Given the description of an element on the screen output the (x, y) to click on. 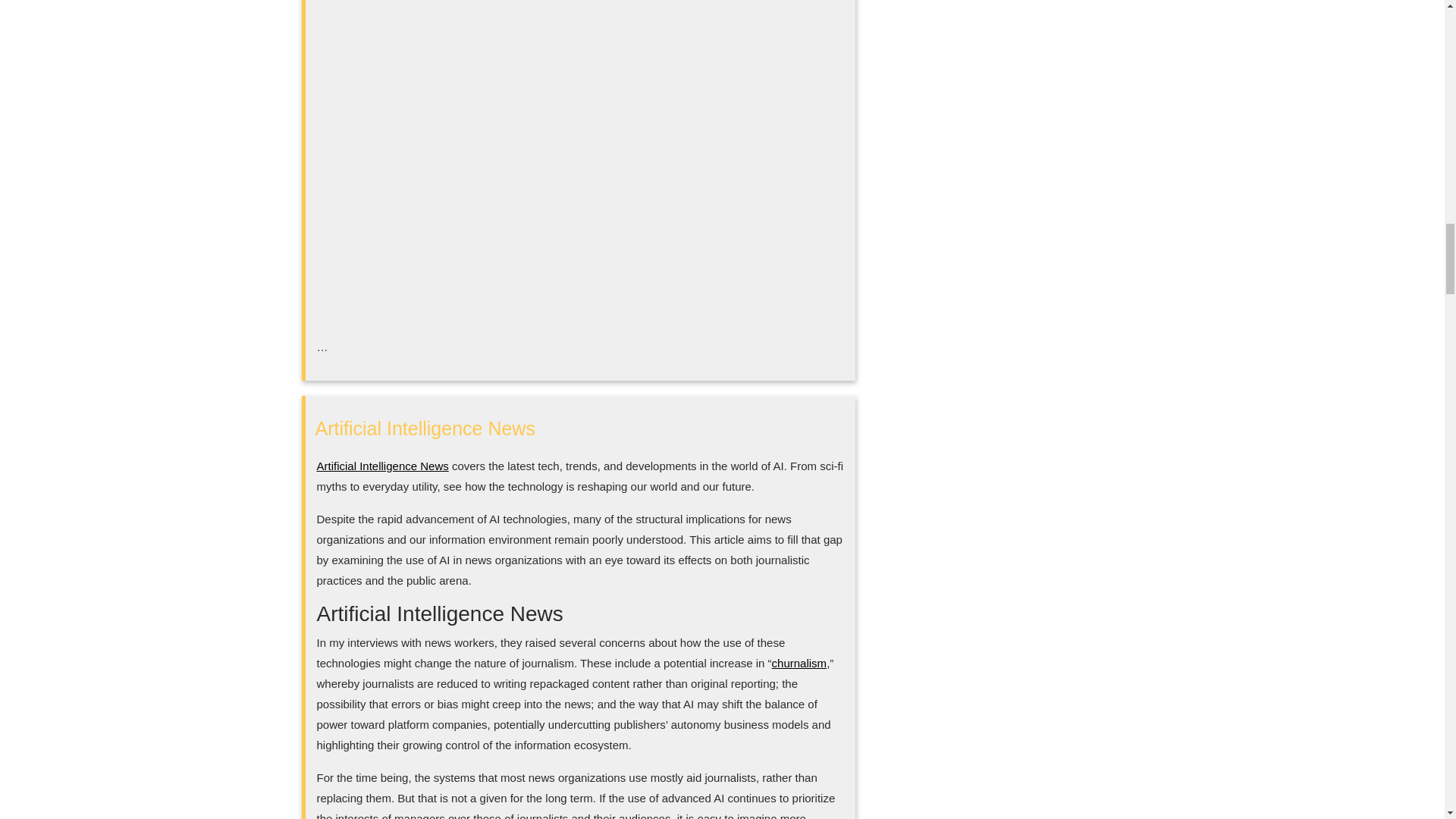
Artificial Intelligence News (425, 427)
Artificial Intelligence News (382, 465)
churnalism (799, 662)
